Given the description of an element on the screen output the (x, y) to click on. 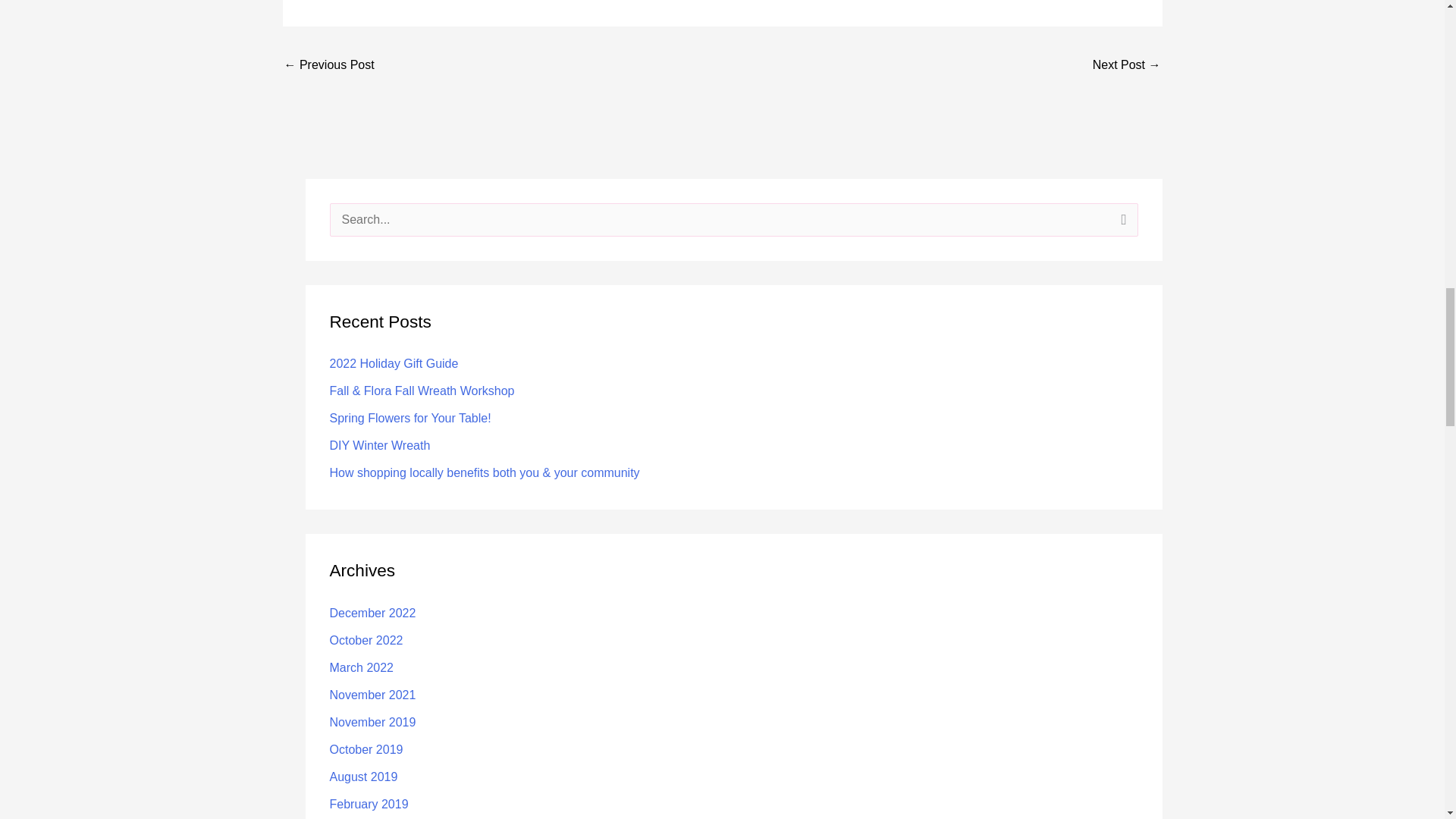
March 2022 (361, 667)
November 2019 (371, 721)
The Ultimate Guide to Holiday Flowers (328, 65)
August 2019 (363, 776)
October 2019 (366, 748)
DIY Winter Wreath (379, 445)
Will a Poinsettia kill my cat? (1126, 65)
February 2019 (368, 803)
November 2021 (371, 694)
December 2022 (371, 612)
